Given the description of an element on the screen output the (x, y) to click on. 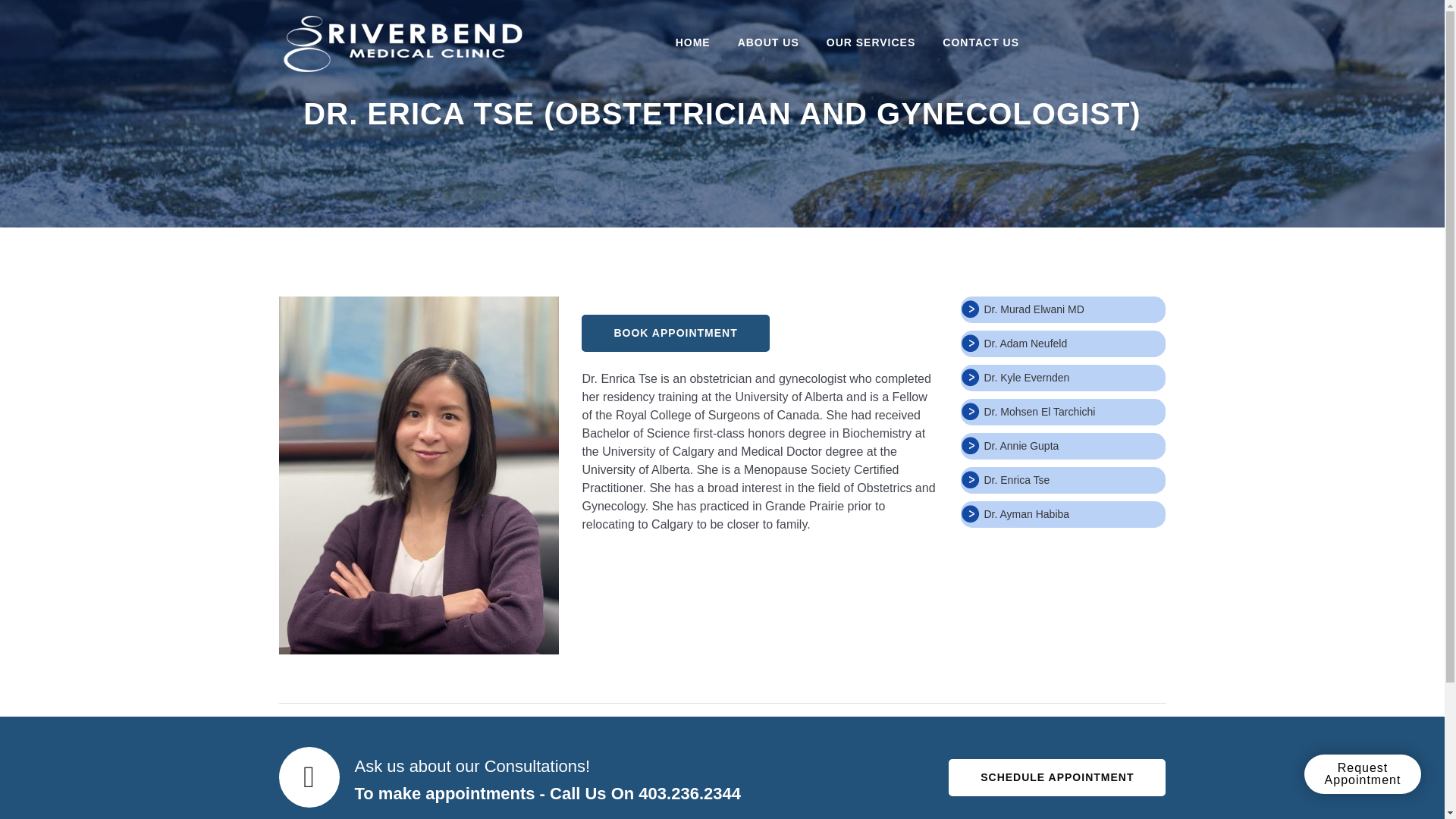
Dr. Adam Neufeld (1025, 343)
Dr. Kyle Evernden (1026, 377)
Dr. Enrica Tse (1016, 480)
Dr. Mohsen El Tarchichi (1039, 411)
Dr. Annie Gupta (1021, 445)
OUR SERVICES (871, 42)
CONTACT US (980, 42)
SCHEDULE APPOINTMENT (1057, 777)
Dr. Murad Elwani MD (1033, 309)
BOOK APPOINTMENT (674, 333)
